Given the description of an element on the screen output the (x, y) to click on. 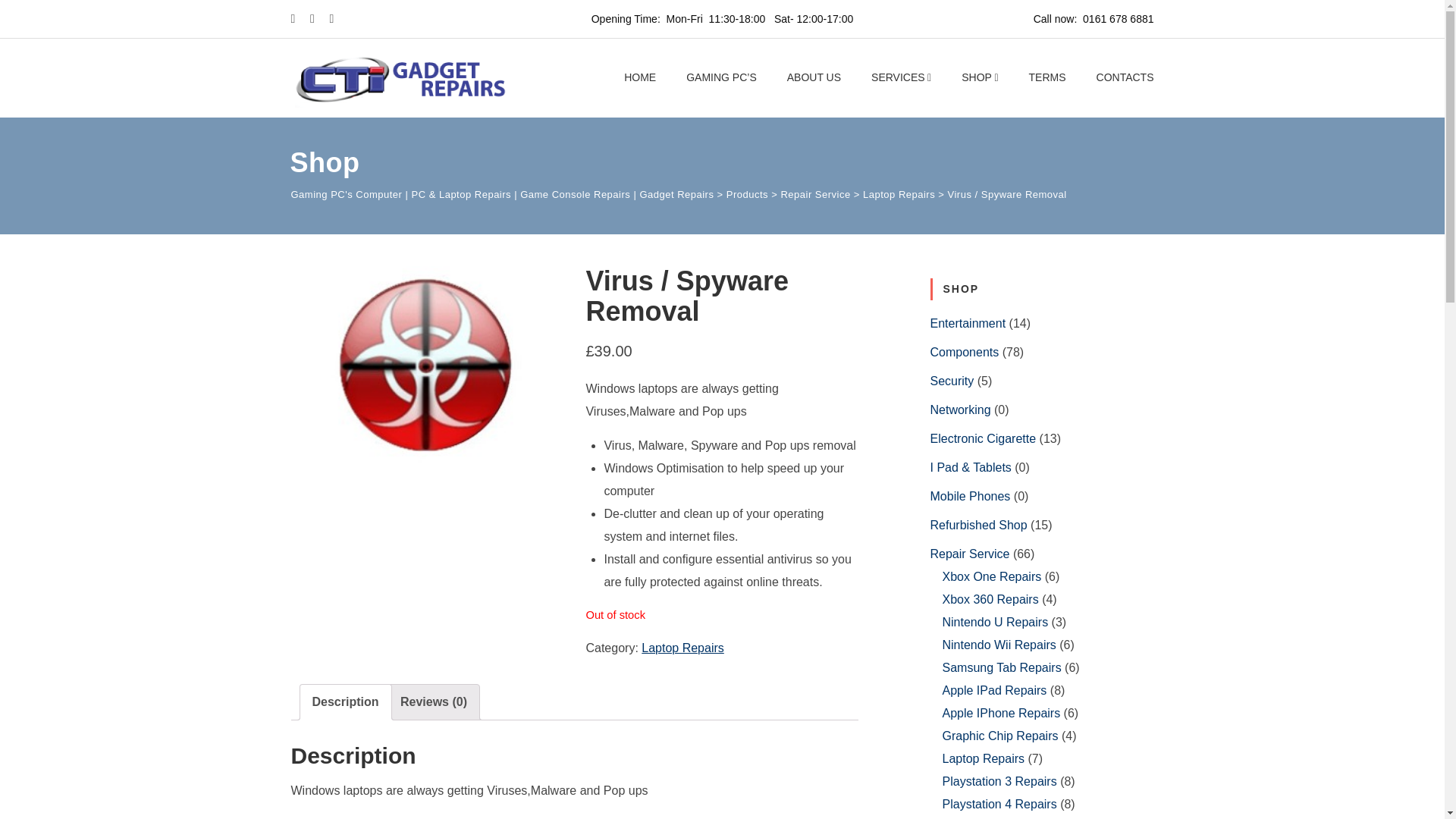
Description (345, 701)
Go to Products. (747, 194)
Products (747, 194)
ABOUT US (814, 76)
CONTACTS (1125, 76)
SERVICES (900, 77)
Laptop Repairs (682, 647)
Repair Service (815, 194)
Go to the Laptop Repairs Category archives. (898, 194)
Go to the Repair Service Category archives. (815, 194)
